Given the description of an element on the screen output the (x, y) to click on. 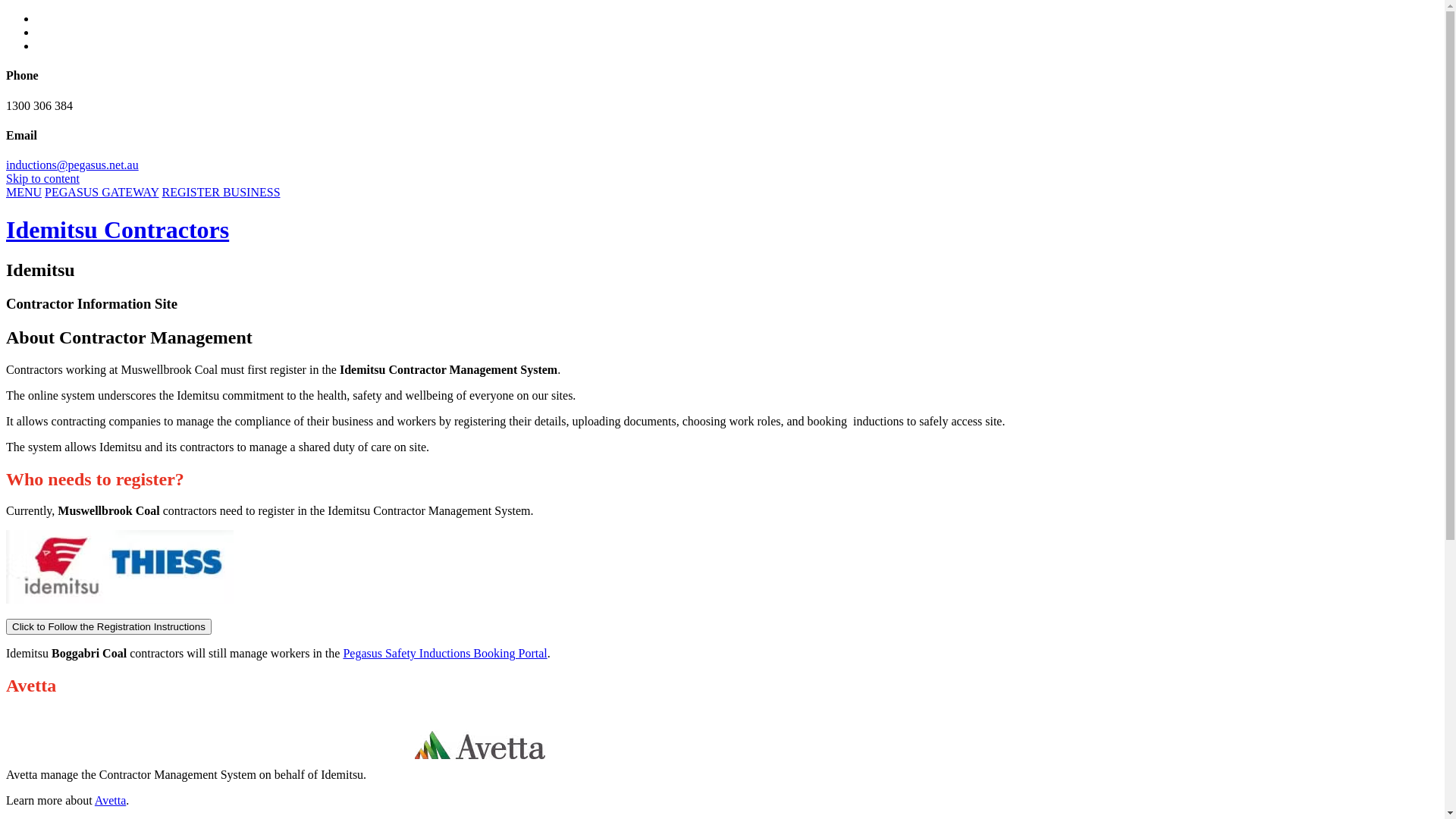
Skip to content Element type: text (42, 178)
REGISTER BUSINESS Element type: text (221, 191)
Idemitsu Contractors Element type: text (117, 228)
inductions@pegasus.net.au Element type: text (72, 164)
Avetta Element type: text (109, 799)
PEGASUS GATEWAY Element type: text (101, 191)
Click to Follow the Registration Instructions Element type: text (108, 626)
MENU Element type: text (23, 191)
Pegasus Safety Inductions Booking Portal Element type: text (444, 652)
